Given the description of an element on the screen output the (x, y) to click on. 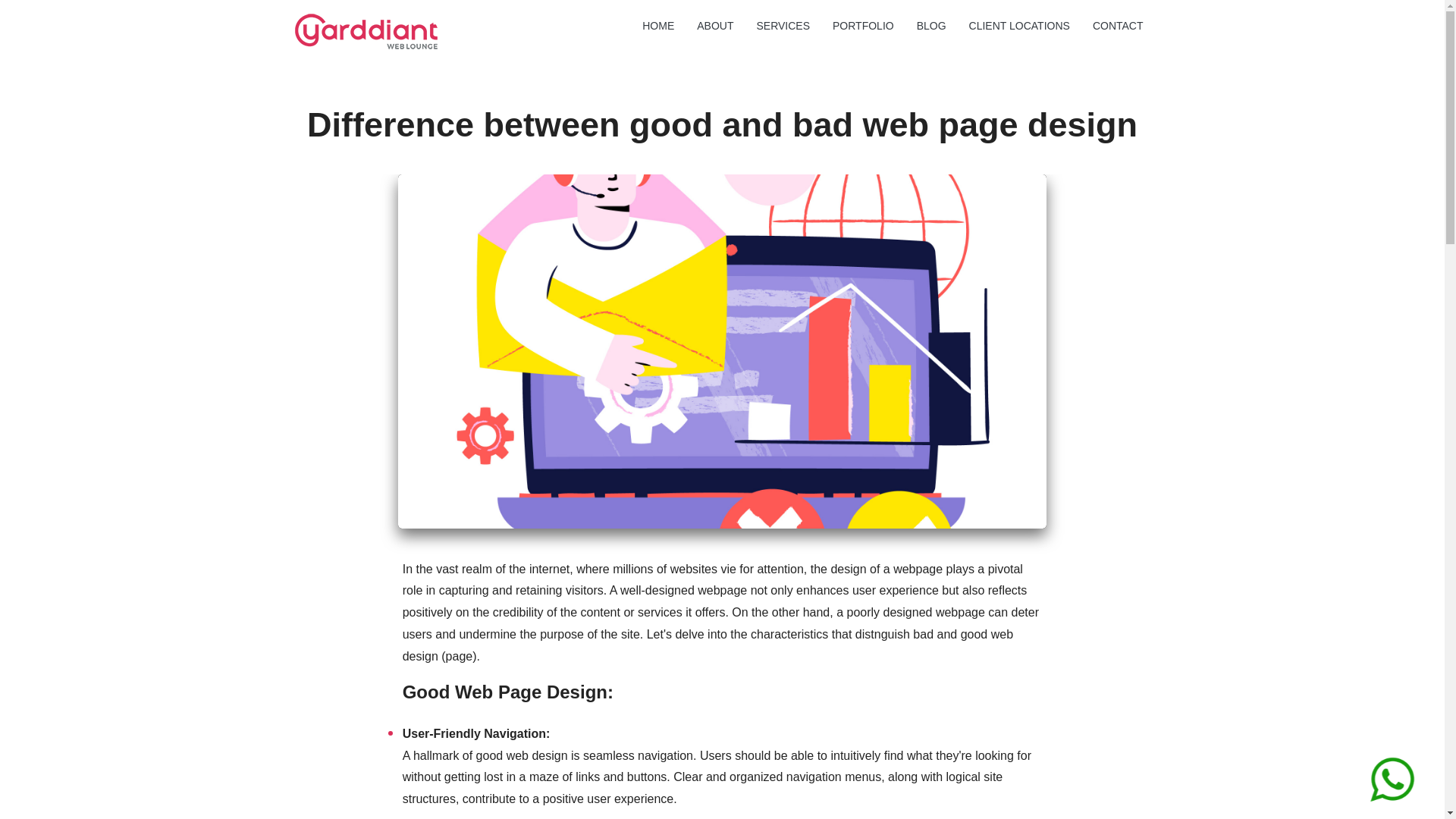
HOME (657, 26)
PORTFOLIO (863, 26)
BLOG (931, 26)
